Given the description of an element on the screen output the (x, y) to click on. 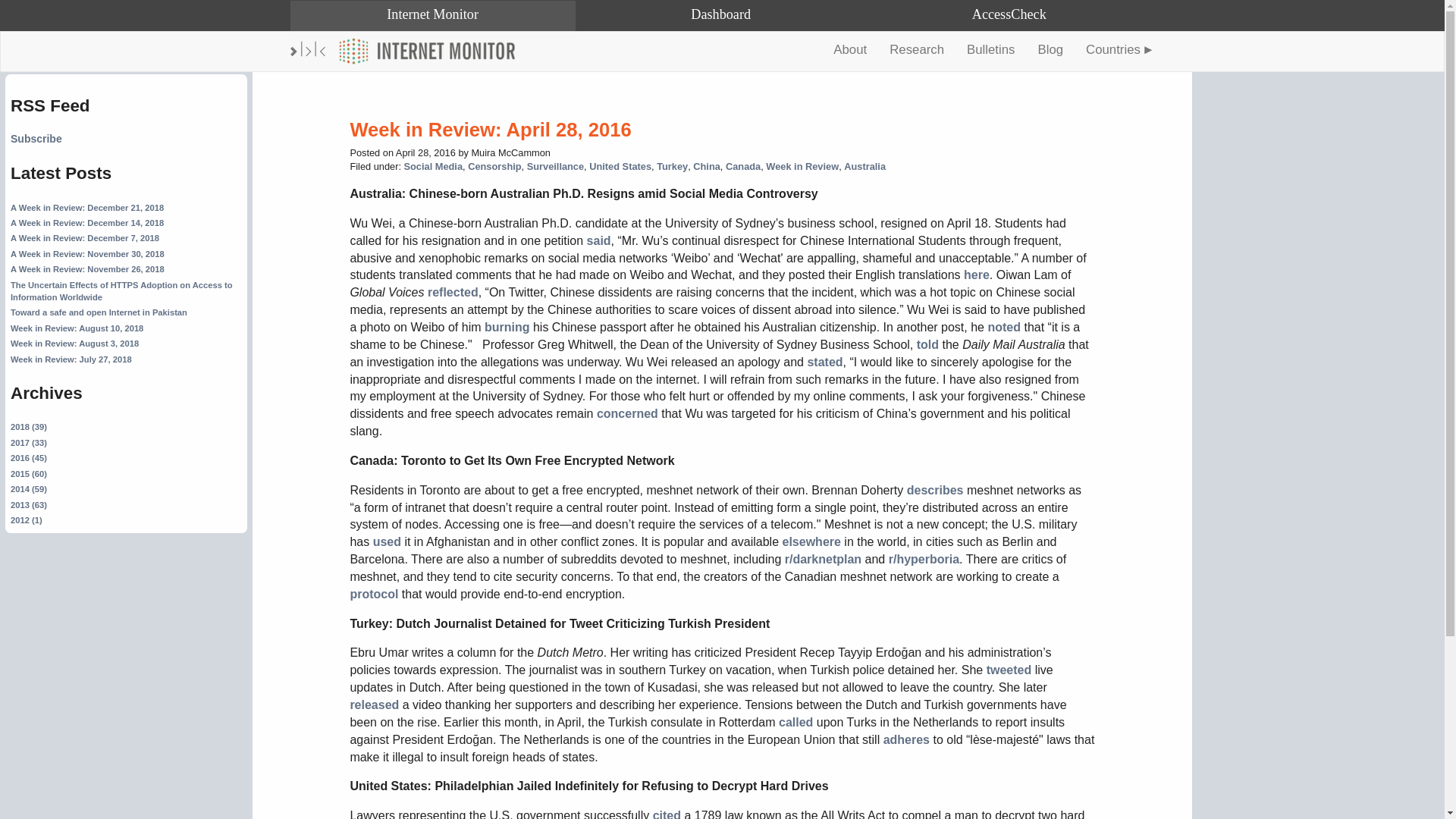
Research (916, 49)
A Week in Review: December 21, 2018 (86, 207)
Dashboard (720, 15)
Blog (1050, 49)
Bulletins (990, 49)
About (849, 49)
Subscribe (36, 138)
A Week in Review: December 14, 2018 (86, 222)
A Week in Review: December 7, 2018 (84, 237)
Internet Monitor (432, 15)
Countries (1120, 49)
Internet Monitor (427, 51)
A Week in Review: November 30, 2018 (87, 253)
AFGHANISTAN (1053, 81)
AccessCheck (1008, 15)
